Given the description of an element on the screen output the (x, y) to click on. 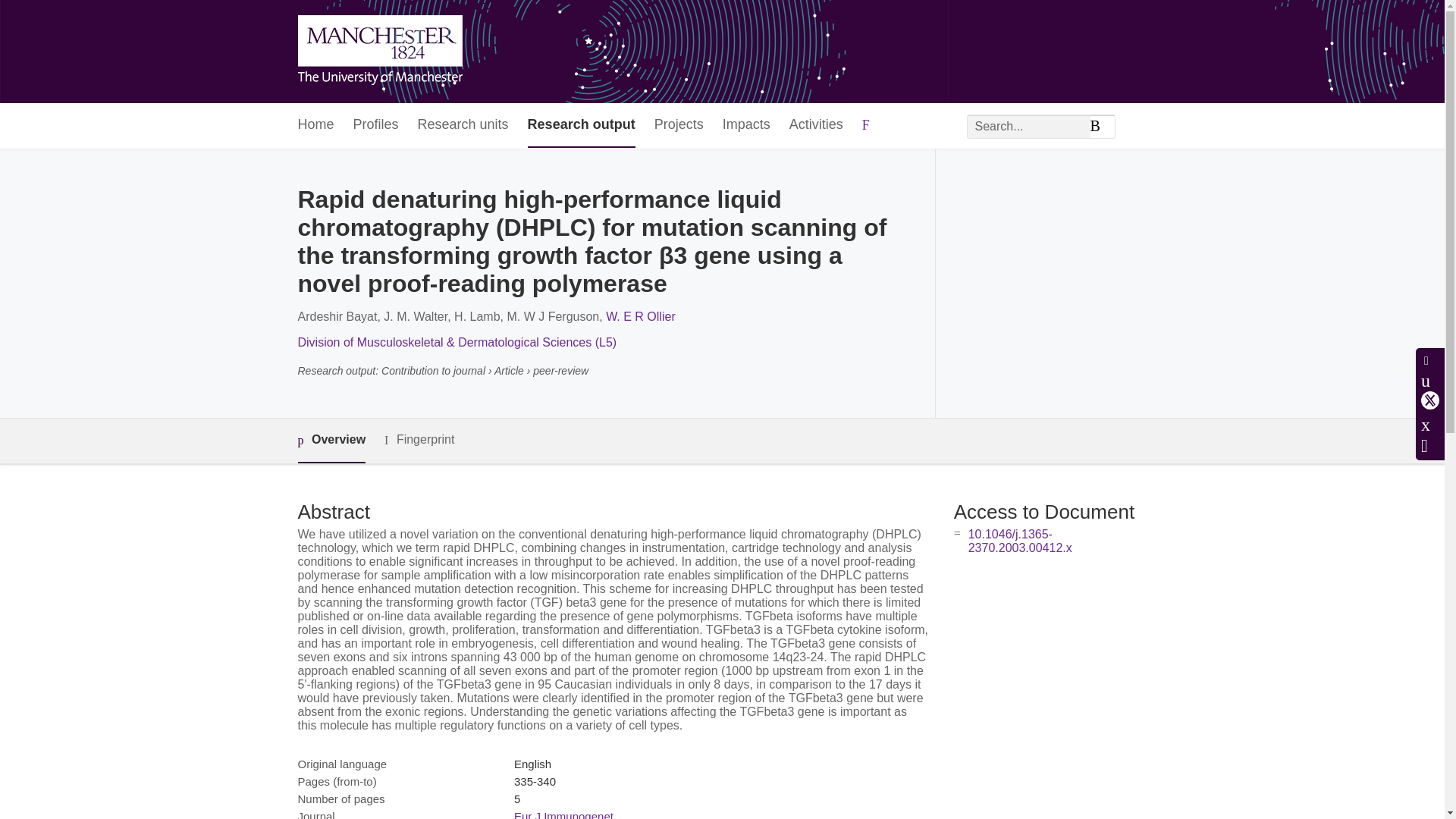
Eur J Immunogenet (562, 814)
Activities (816, 125)
Projects (678, 125)
Research Explorer The University of Manchester Home (379, 51)
Overview (331, 440)
Profiles (375, 125)
Research output (580, 125)
Impacts (746, 125)
Fingerprint (419, 439)
Research units (462, 125)
W. E R Ollier (640, 316)
